Given the description of an element on the screen output the (x, y) to click on. 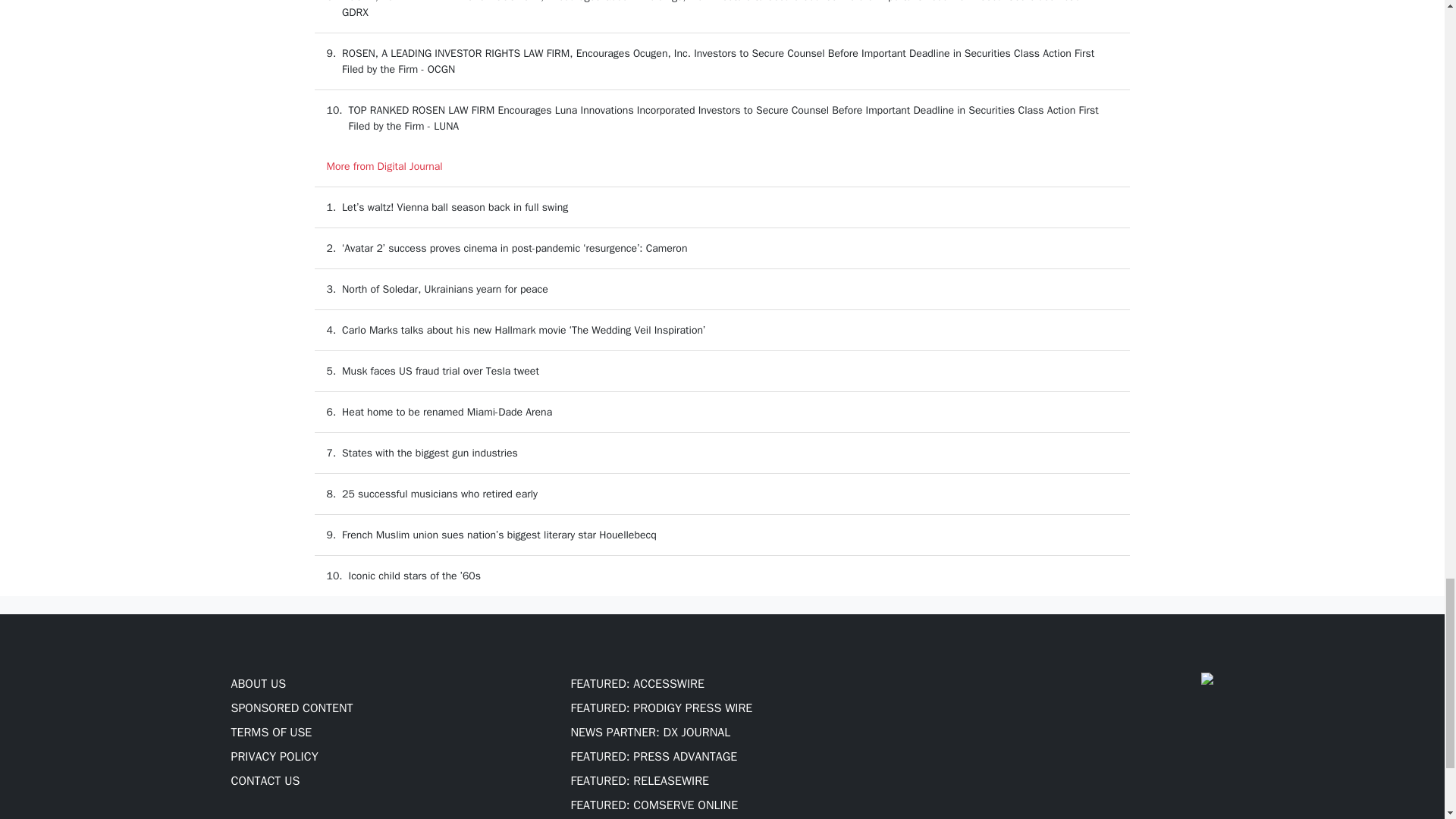
CONTACT US (264, 780)
North of Soledar, Ukrainians yearn for peace (445, 288)
FEATURED: ACCESSWIRE (636, 683)
States with the biggest gun industries (430, 452)
Musk faces US fraud trial over Tesla tweet (440, 370)
ABOUT US (257, 683)
25 successful musicians who retired early (439, 493)
TERMS OF USE (270, 732)
Heat home to be renamed Miami-Dade Arena (446, 411)
